Given the description of an element on the screen output the (x, y) to click on. 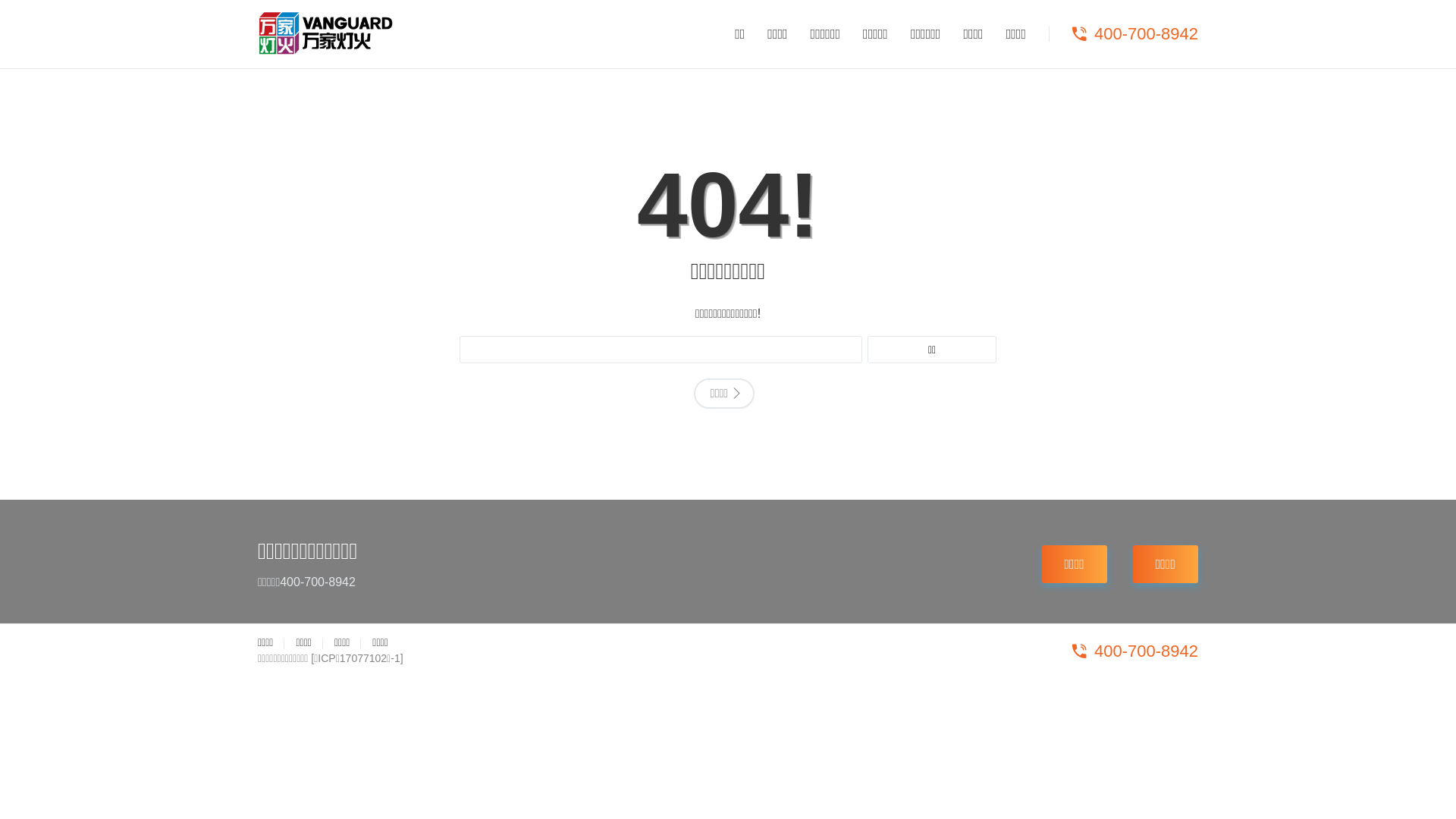
400-700-8942 Element type: text (1132, 651)
400-700-8942 Element type: text (1132, 34)
